Given the description of an element on the screen output the (x, y) to click on. 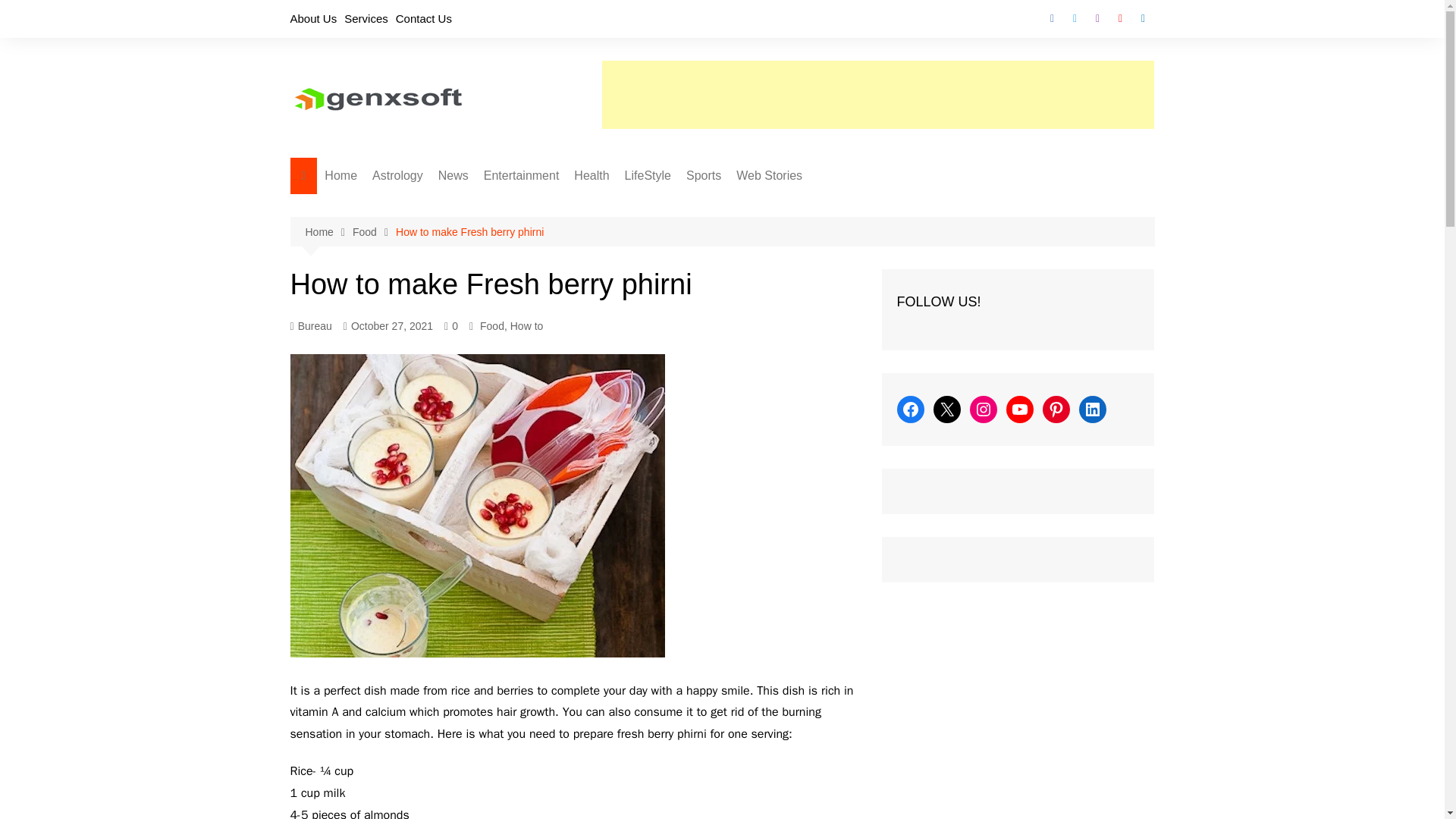
How to (700, 206)
Spiritual (448, 281)
Home (341, 176)
Education (513, 281)
LifeStyle (647, 176)
Entertainment (521, 176)
World (513, 206)
Religion (448, 256)
Technology (700, 231)
Contact Us (423, 18)
